Given the description of an element on the screen output the (x, y) to click on. 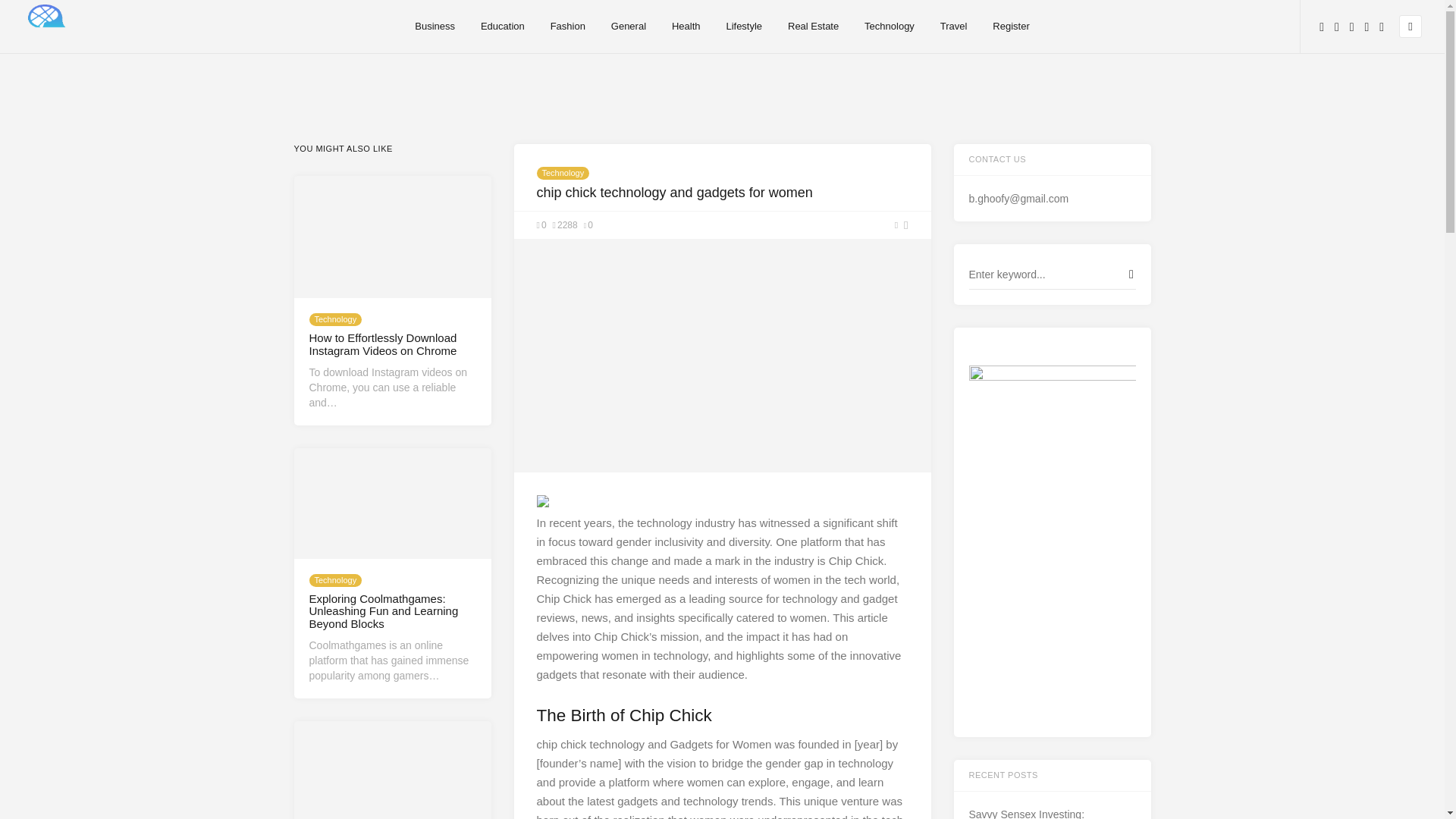
Technology (563, 173)
Real Estate (812, 26)
2288 (565, 225)
Technology (889, 26)
0 (587, 225)
0 (542, 225)
